Given the description of an element on the screen output the (x, y) to click on. 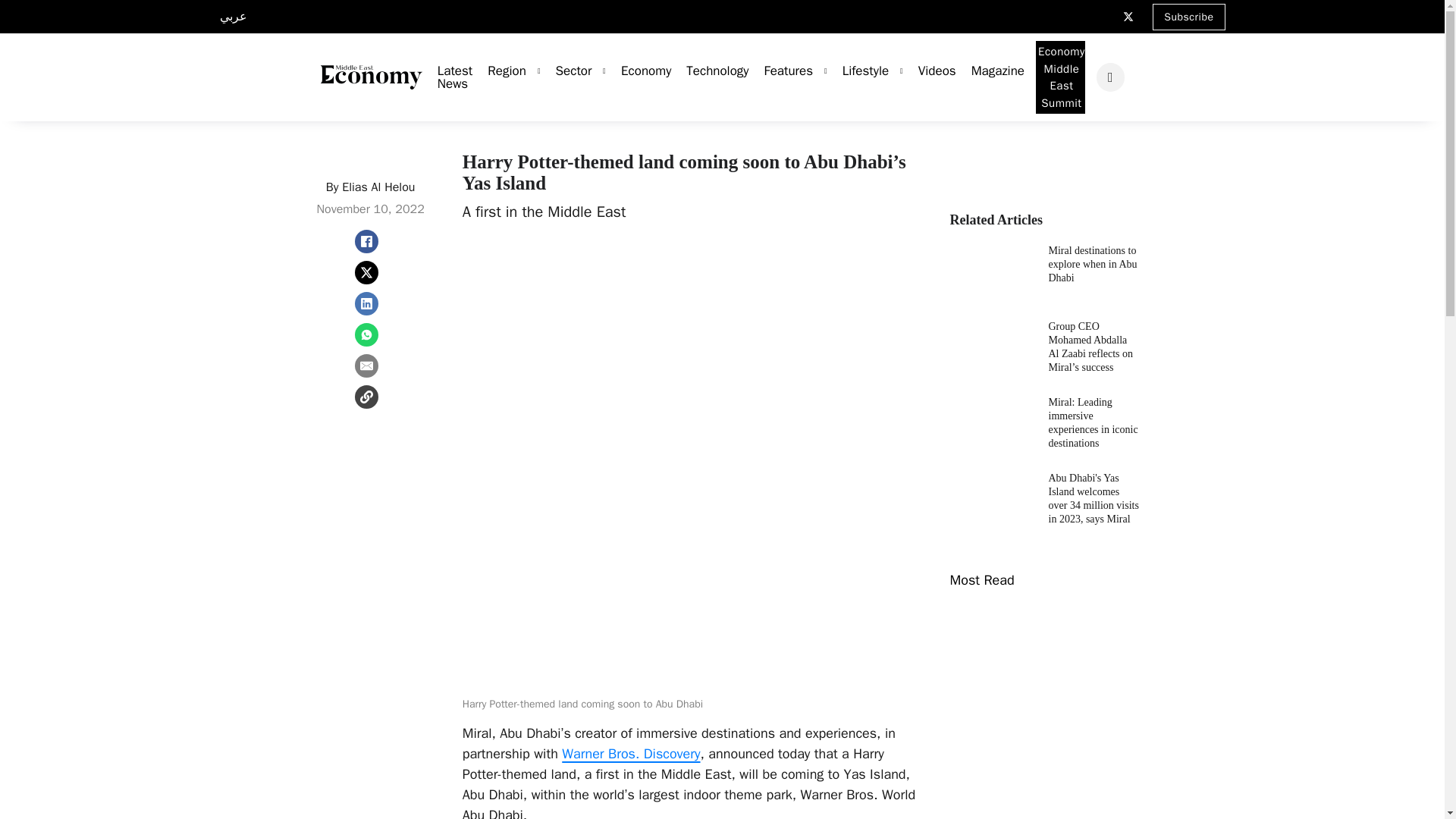
Subscribe (1188, 16)
Features (781, 70)
Instagram (1100, 11)
Latest News (447, 77)
Technology (709, 70)
Region (498, 70)
Economy (638, 70)
LinkedIn (1077, 11)
Sector (566, 70)
Economy Middle East (371, 77)
